Given the description of an element on the screen output the (x, y) to click on. 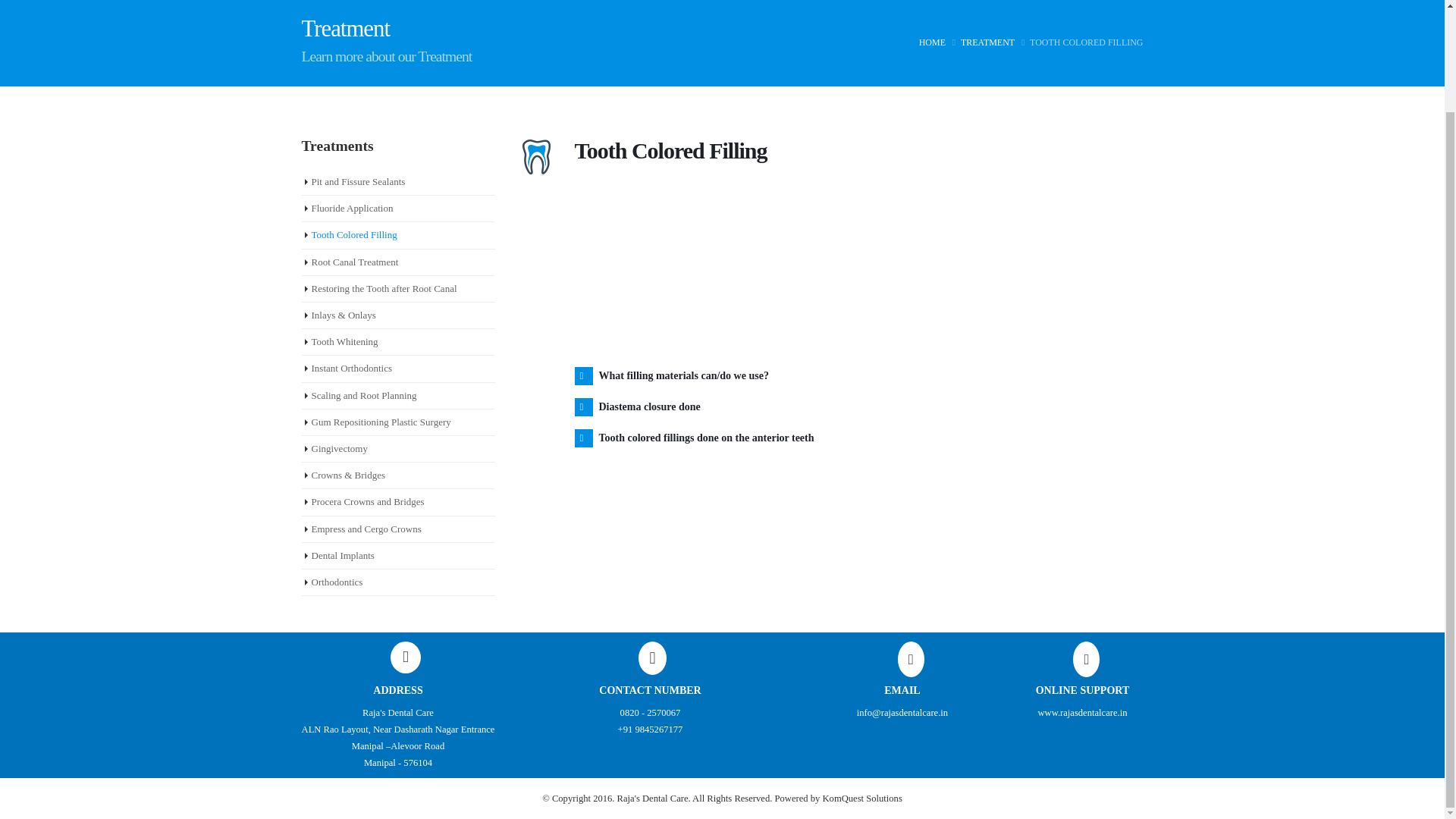
Restoring the Tooth after Root Canal (384, 288)
Tooth Colored Filling (353, 234)
Gum Repositioning Plastic Surgery (380, 421)
HOME (931, 42)
Fluoride Application (352, 207)
Pit and Fissure Sealants (357, 181)
Scaling and Root Planning (363, 395)
TREATMENT (987, 42)
Tooth Whitening (344, 341)
Instant Orthodontics (351, 367)
Root Canal Treatment (354, 261)
